Given the description of an element on the screen output the (x, y) to click on. 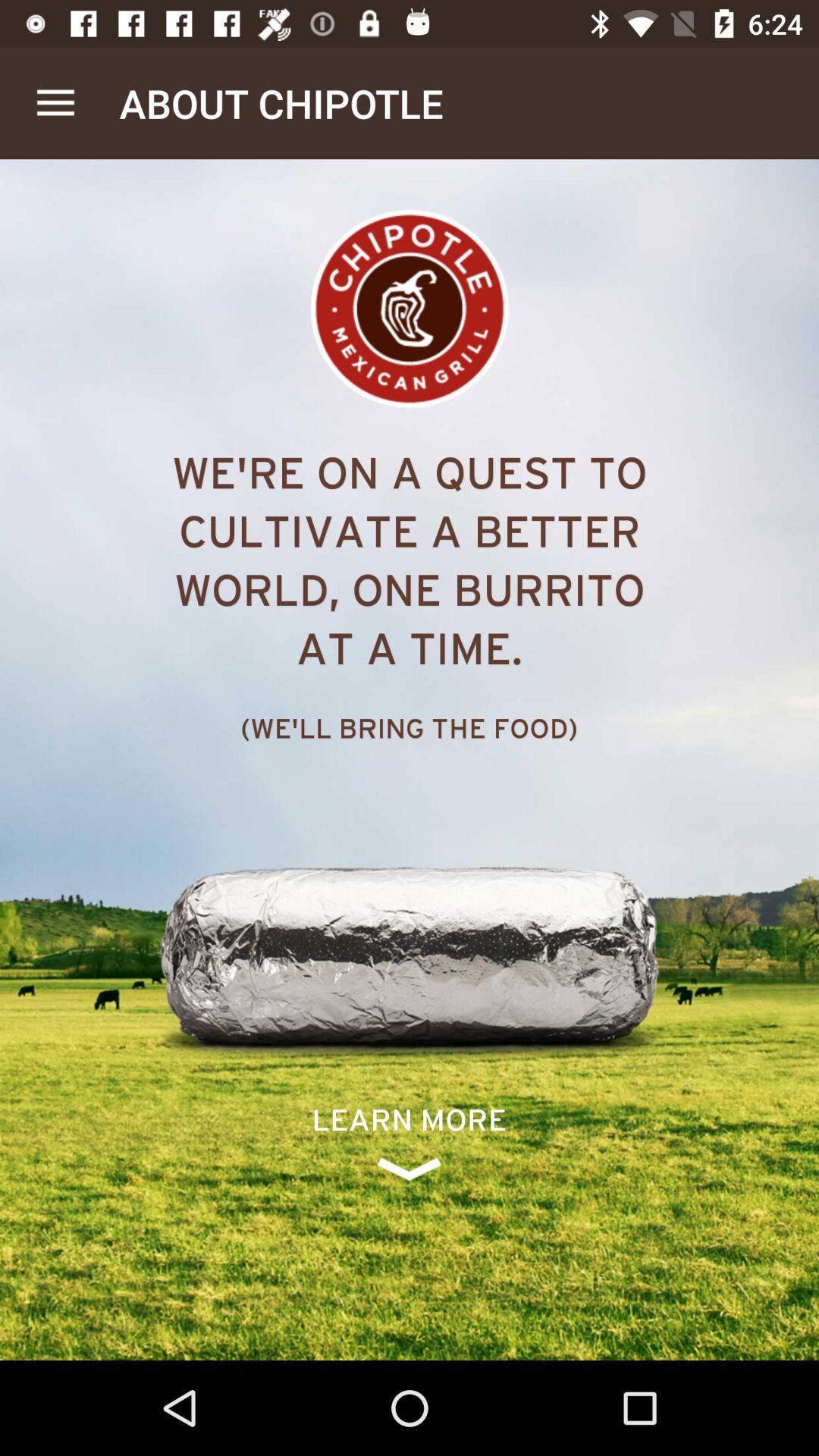
press the app to the left of about chipotle item (55, 103)
